Given the description of an element on the screen output the (x, y) to click on. 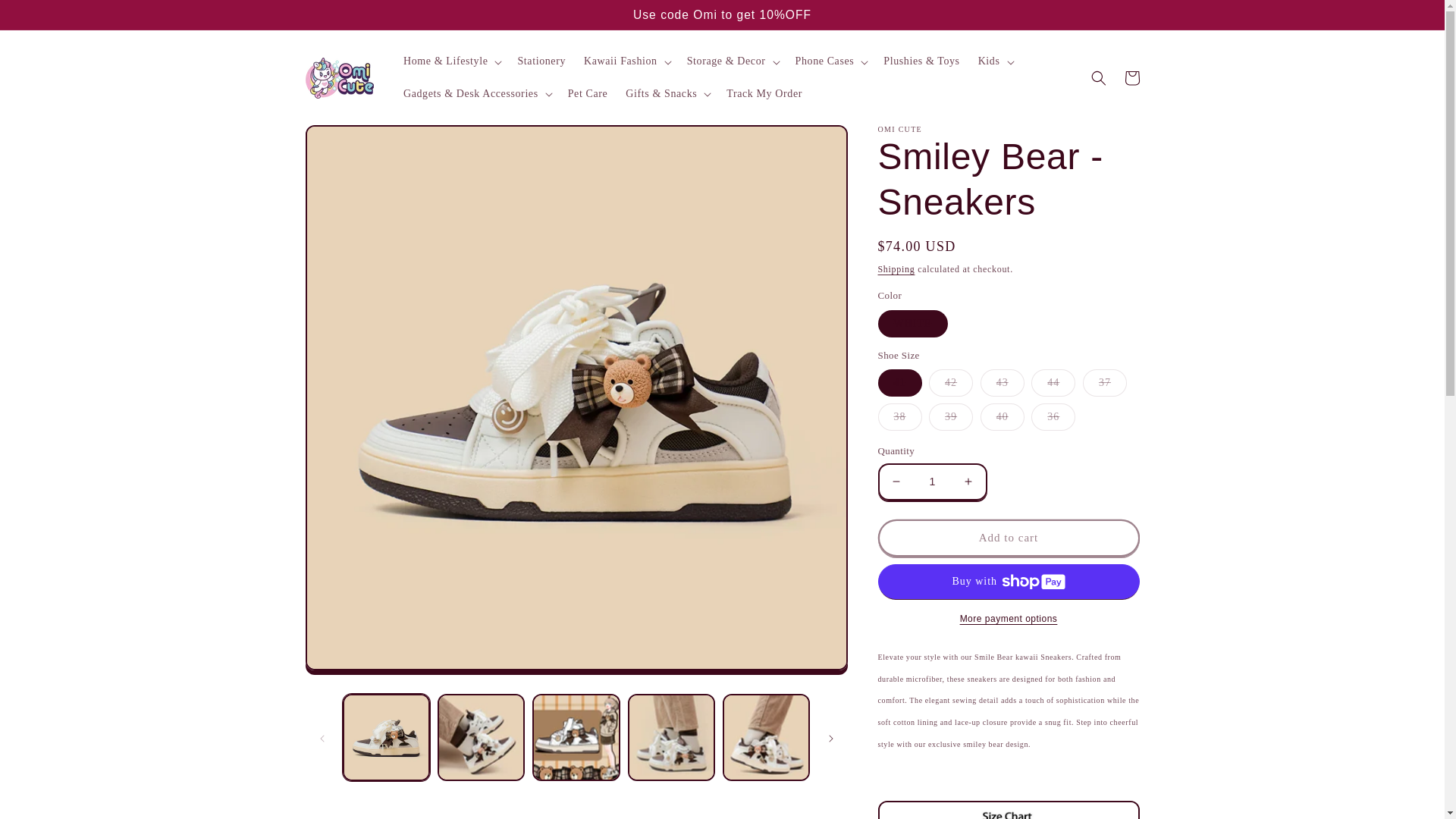
1 (931, 481)
Skip to content (46, 18)
